Given the description of an element on the screen output the (x, y) to click on. 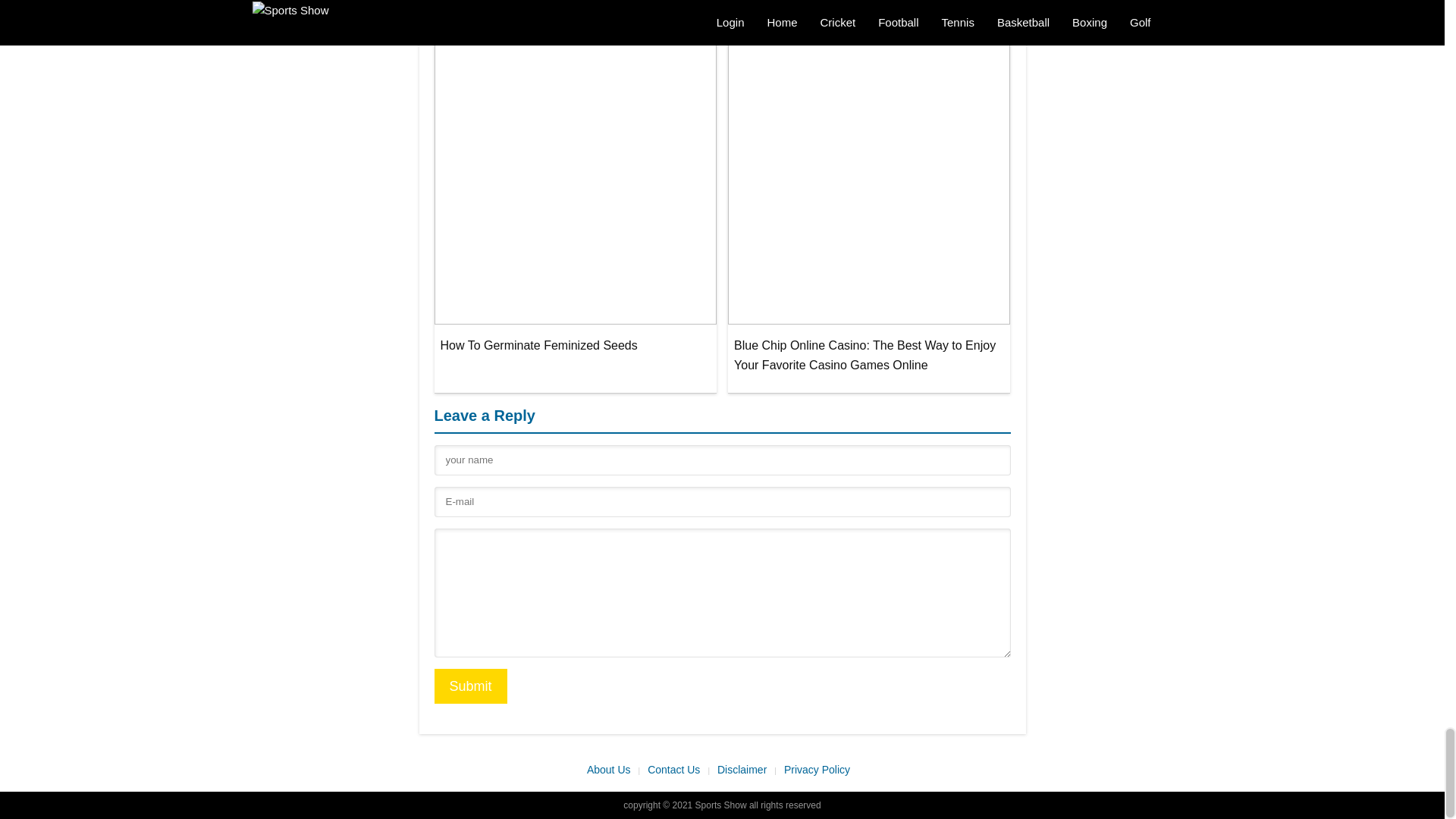
Privacy Policy (820, 769)
Submit (469, 686)
About Us (613, 770)
Contact Us (678, 770)
Disclaimer (746, 770)
